Given the description of an element on the screen output the (x, y) to click on. 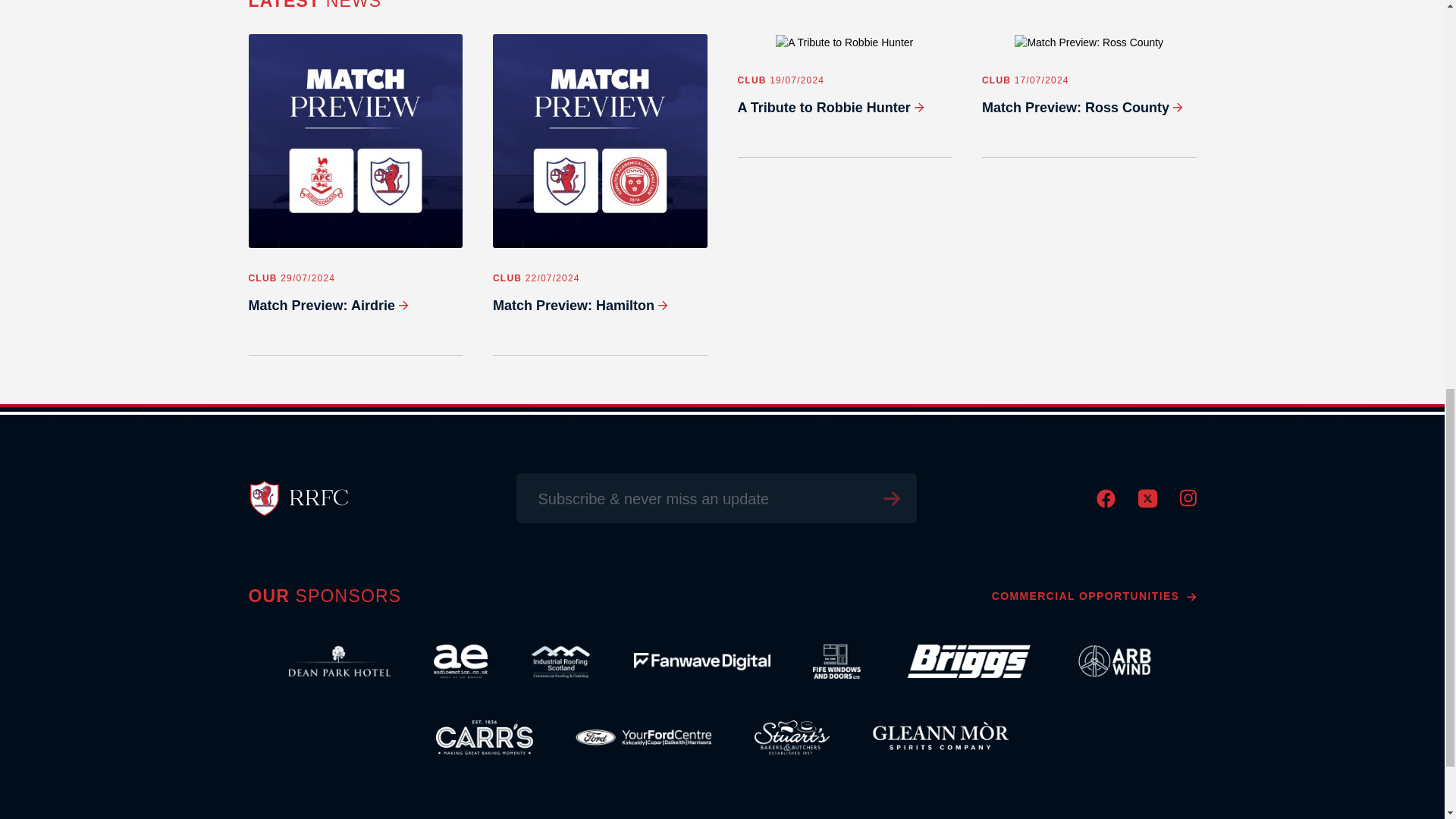
Brigg's Marine (966, 662)
Carr's (484, 737)
Your Ford Centre (643, 737)
Fanwave Digital (701, 662)
Find us on X (1146, 503)
Find us on Facebook (1105, 503)
Find us on Instagram (1187, 502)
Industrial Roofing Scotland (560, 662)
ARB Wind (1114, 662)
Dean Park Hotel (339, 662)
